Given the description of an element on the screen output the (x, y) to click on. 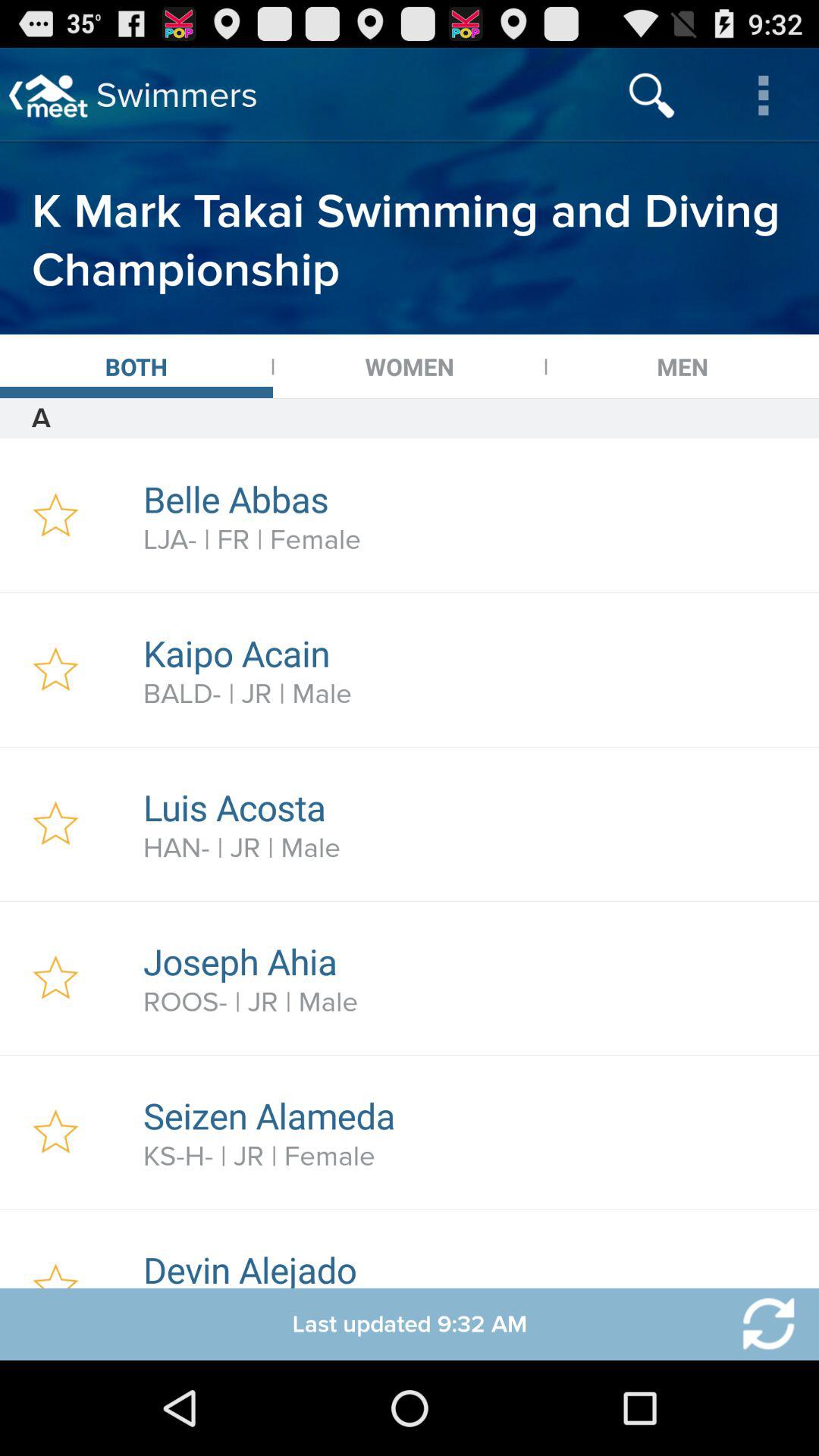
press icon below bald- | jr | male item (473, 807)
